Given the description of an element on the screen output the (x, y) to click on. 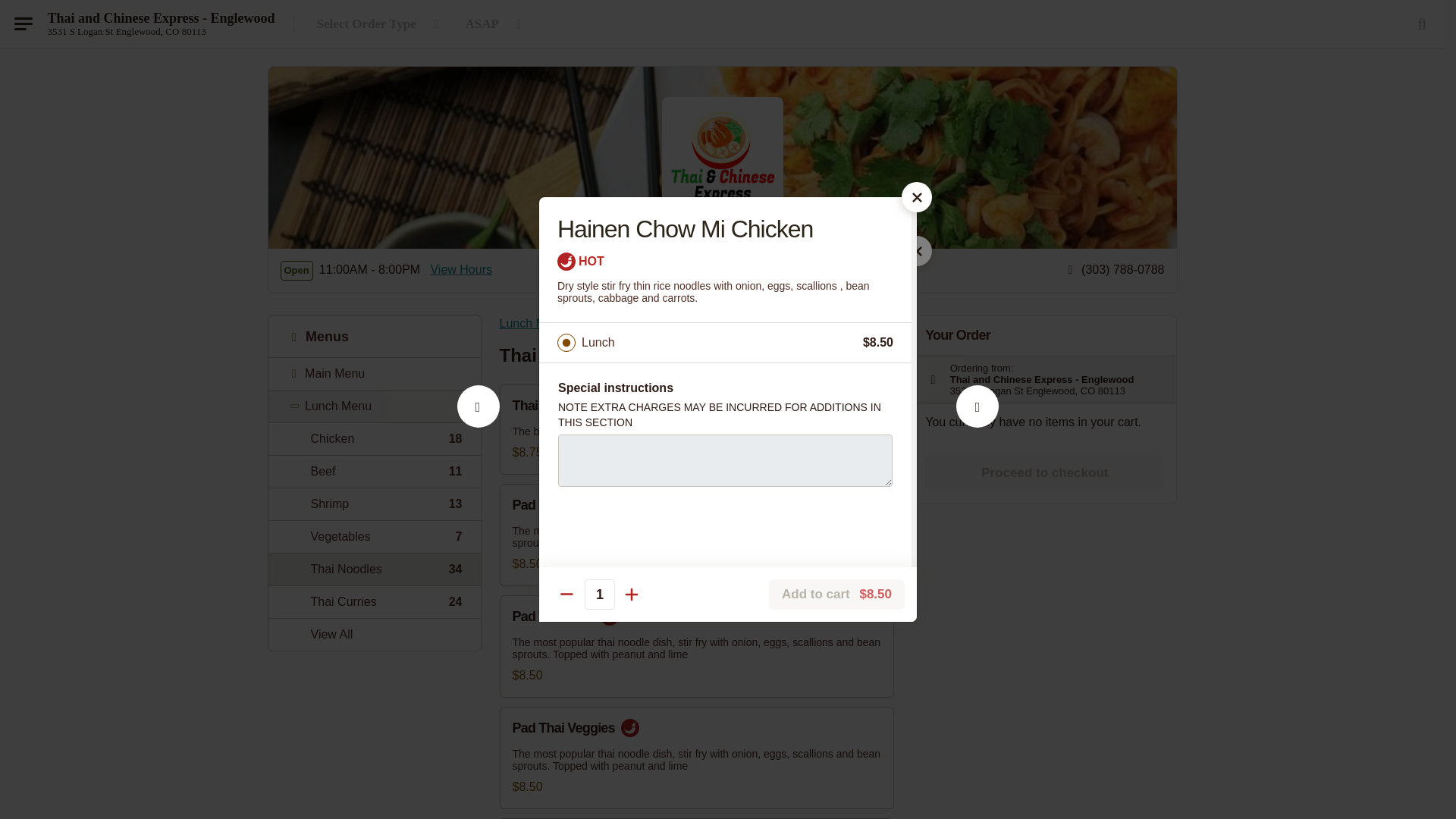
3531 S Logan St Englewood, CO 80113 (125, 31)
Proceed to checkout (1043, 473)
Combo Singapore Rice Noodle (478, 422)
Hainen Chow Mi Beef (977, 422)
Select Order Type (380, 23)
Thai and Chinese Express - Englewood (160, 17)
View Hours (460, 270)
1 (373, 438)
ASAP (599, 594)
